Given the description of an element on the screen output the (x, y) to click on. 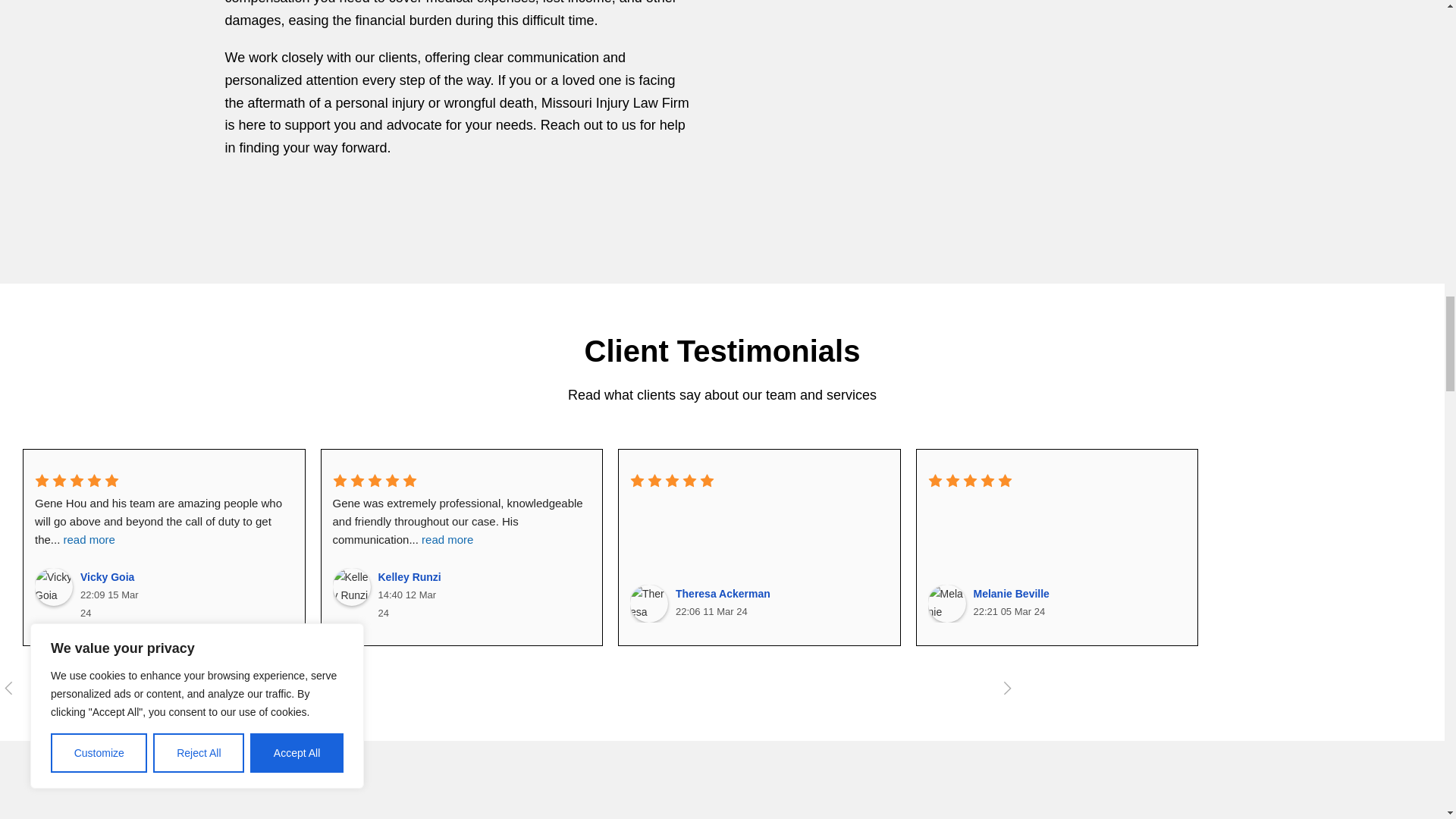
Vicky Goia (53, 587)
Kelley Runzi (350, 587)
Theresa Ackerman (649, 603)
George VanMeter (1244, 603)
Melanie Beville (947, 603)
